Given the description of an element on the screen output the (x, y) to click on. 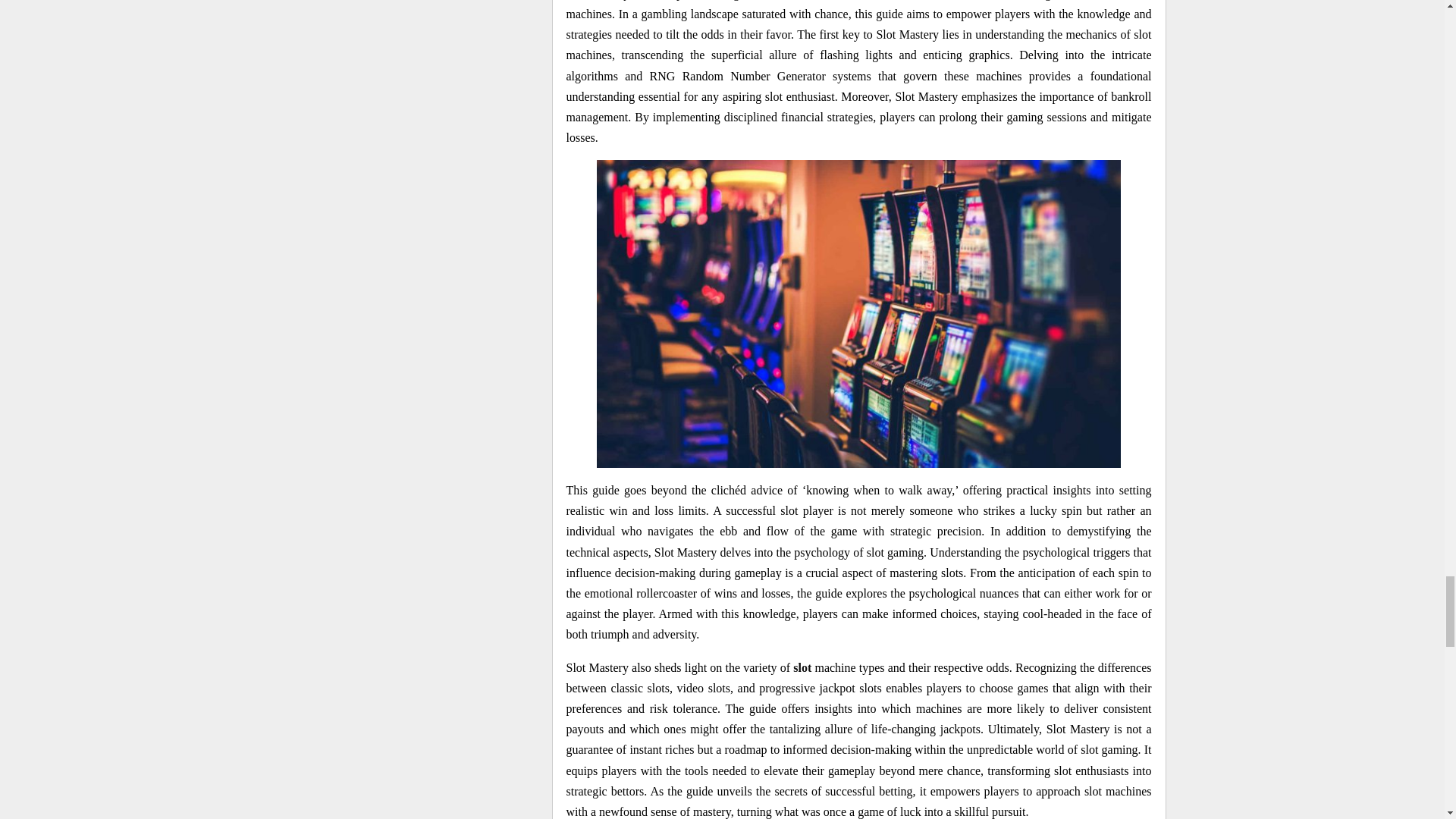
slot (801, 667)
